Given the description of an element on the screen output the (x, y) to click on. 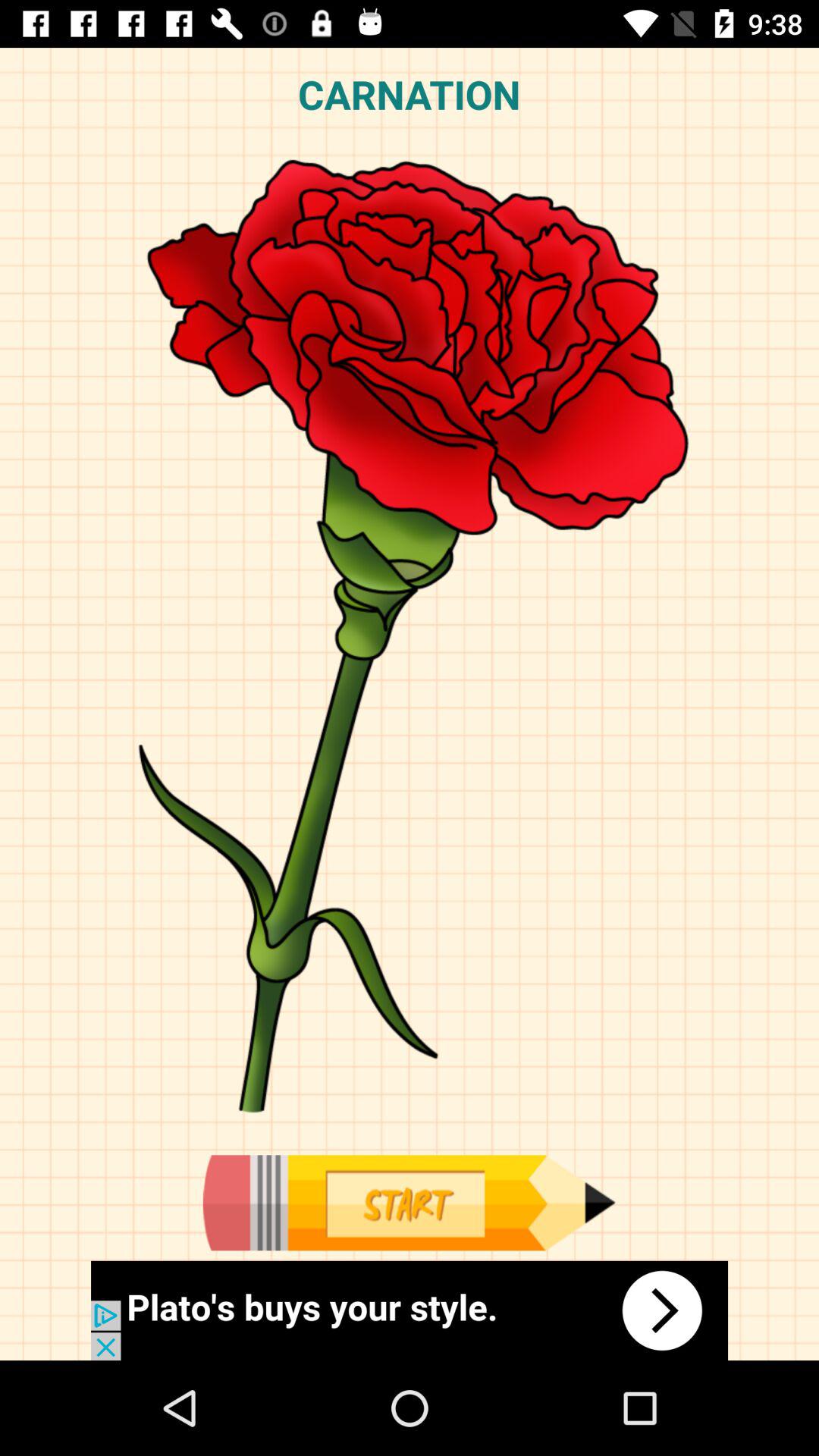
go to advertisement (409, 1202)
